Given the description of an element on the screen output the (x, y) to click on. 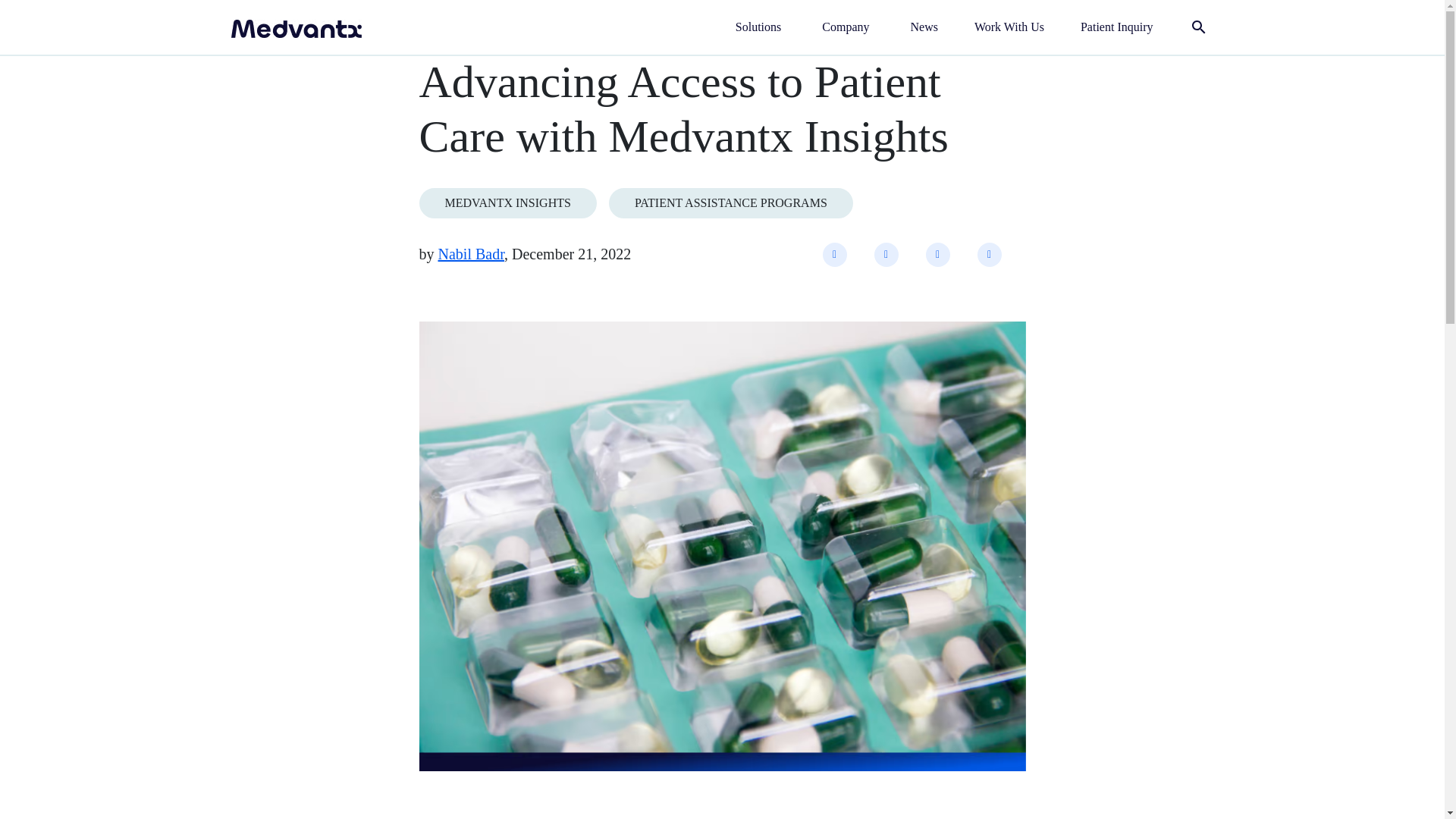
Work With Us (1008, 27)
News (923, 27)
Solutions (760, 27)
MEDVANTX INSIGHTS (507, 203)
Link Copied (988, 254)
Nabil Badr (471, 253)
PATIENT ASSISTANCE PROGRAMS (730, 203)
Patient Inquiry (1116, 27)
Company (847, 27)
